Given the description of an element on the screen output the (x, y) to click on. 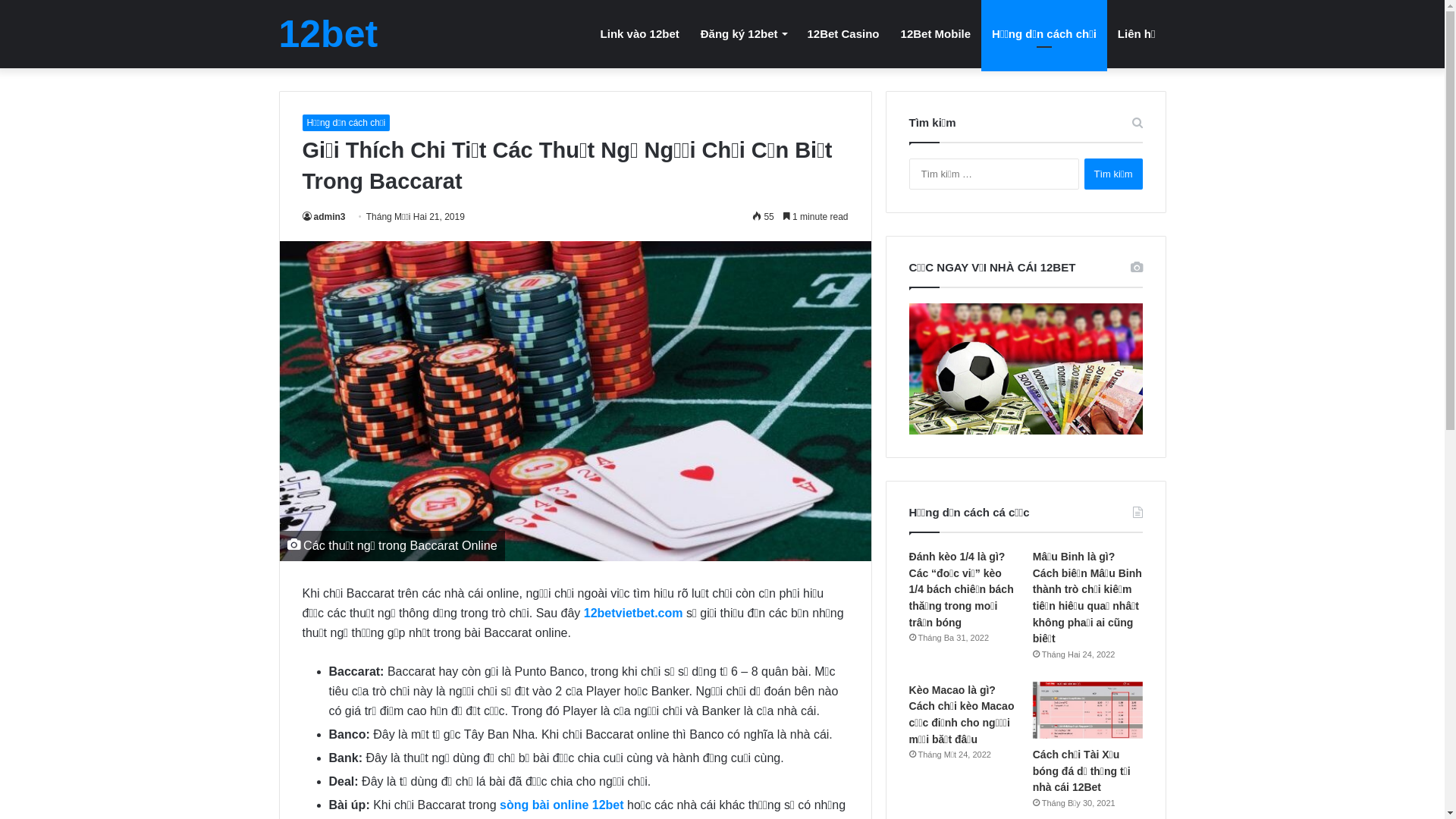
12Bet Casino Element type: text (842, 33)
12Bet Mobile Element type: text (936, 33)
admin3 Element type: text (323, 216)
12betvietbet.com Element type: text (633, 612)
12bet Element type: text (328, 34)
12Bet Sidebar Banner Element type: hover (1025, 368)
